Given the description of an element on the screen output the (x, y) to click on. 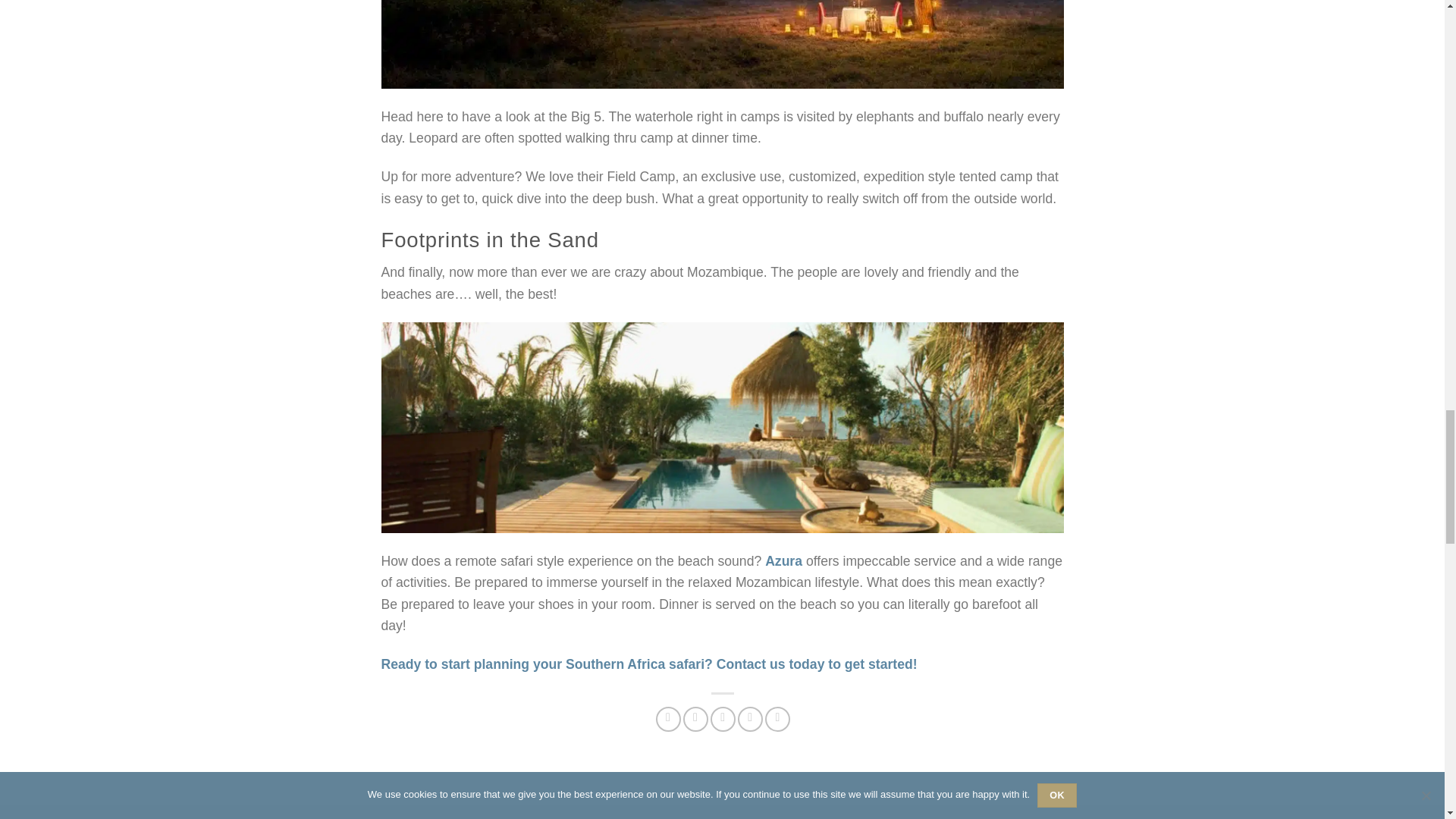
Share on LinkedIn (777, 719)
Pin on Pinterest (750, 719)
Share on Twitter (694, 719)
Share on Facebook (668, 719)
Email to a Friend (722, 719)
